Given the description of an element on the screen output the (x, y) to click on. 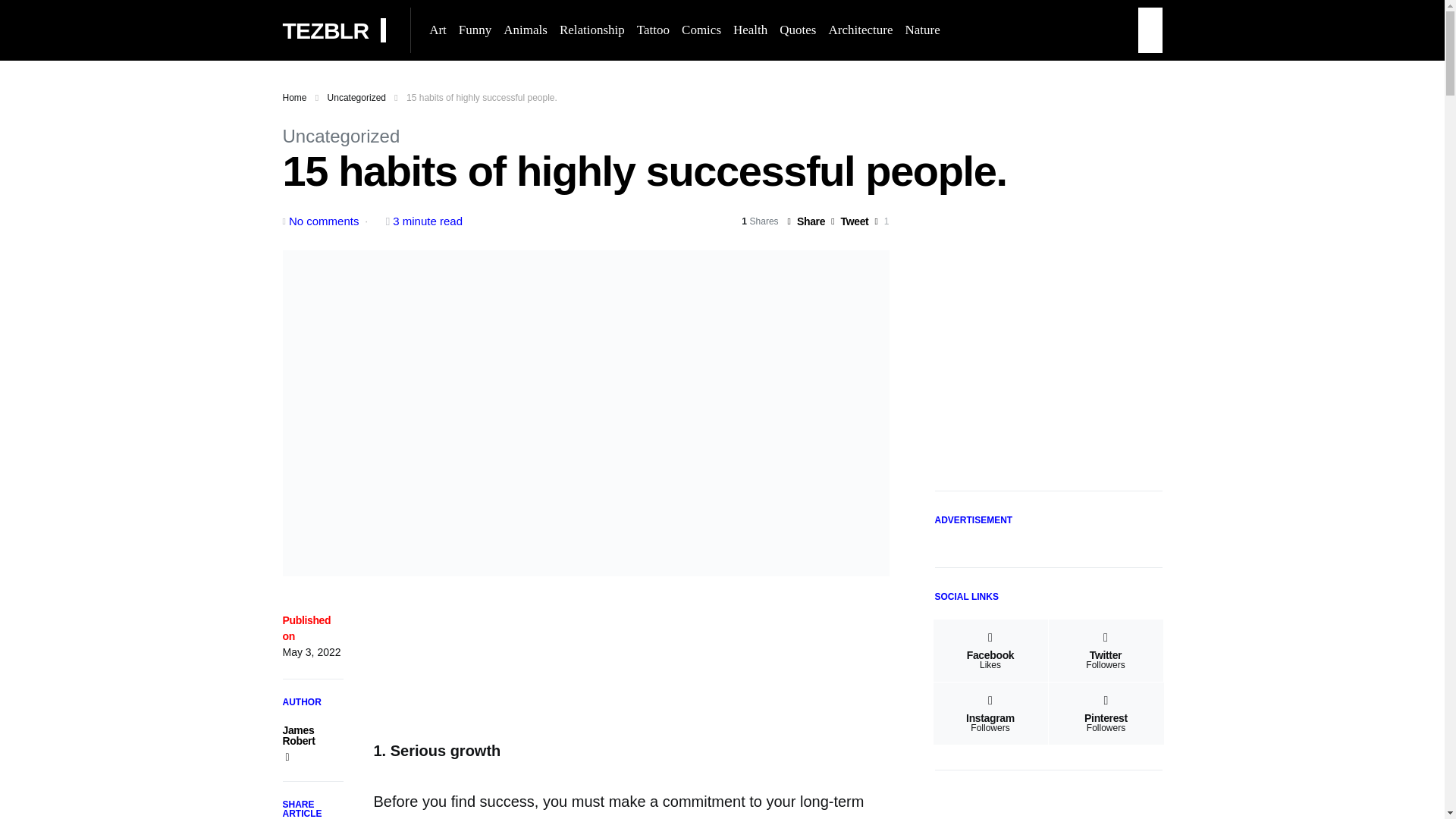
Comics (700, 30)
Quotes (797, 30)
Architecture (860, 30)
Funny (474, 30)
Tweet (849, 221)
Health (749, 30)
Nature (918, 30)
Relationship (591, 30)
Animals (525, 30)
Home (293, 97)
